Given the description of an element on the screen output the (x, y) to click on. 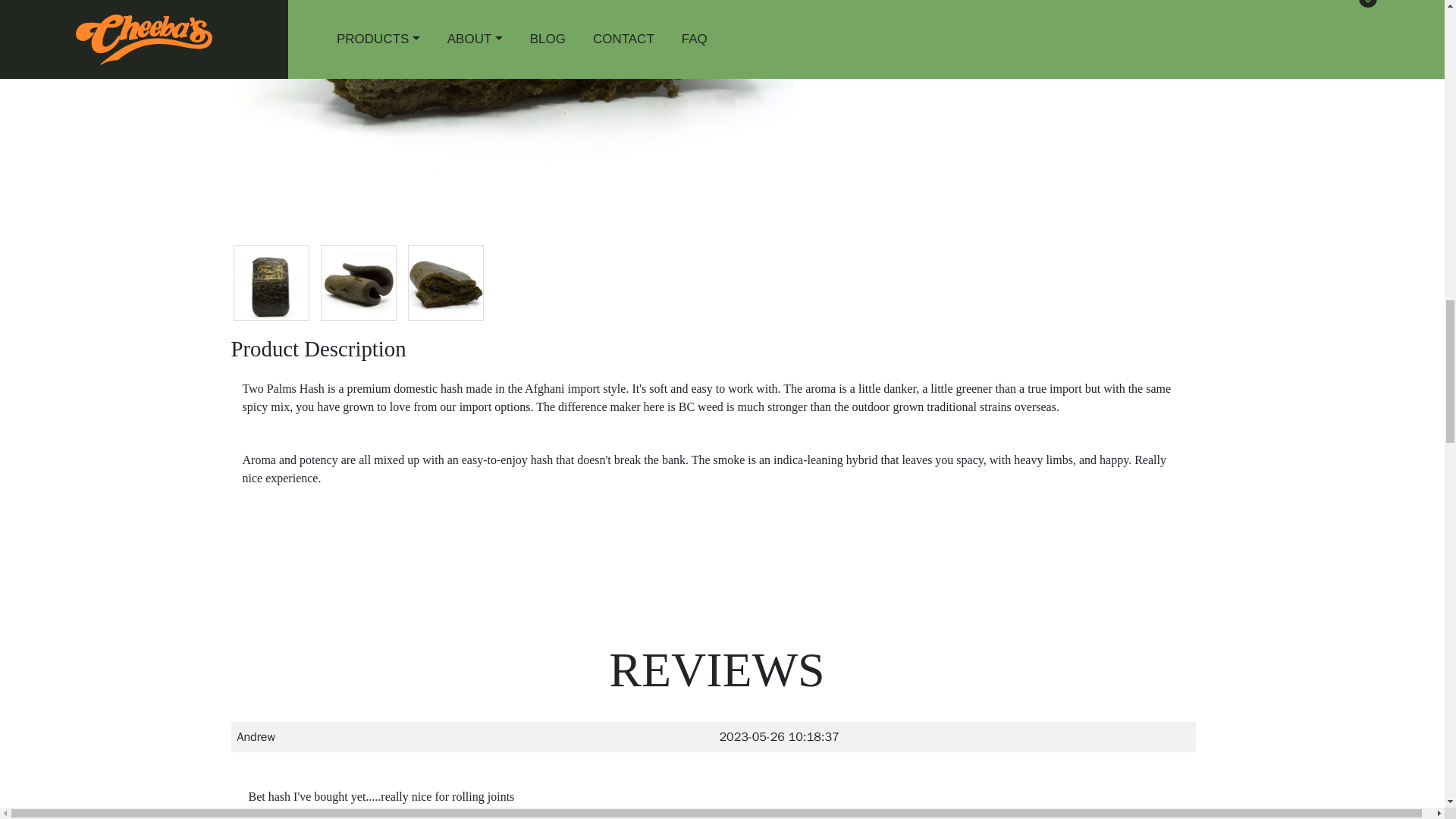
Two Palms Hash (270, 282)
Two Palms Hash (358, 282)
Two Palms Hash (512, 105)
Two Palms Hash (445, 282)
